Given the description of an element on the screen output the (x, y) to click on. 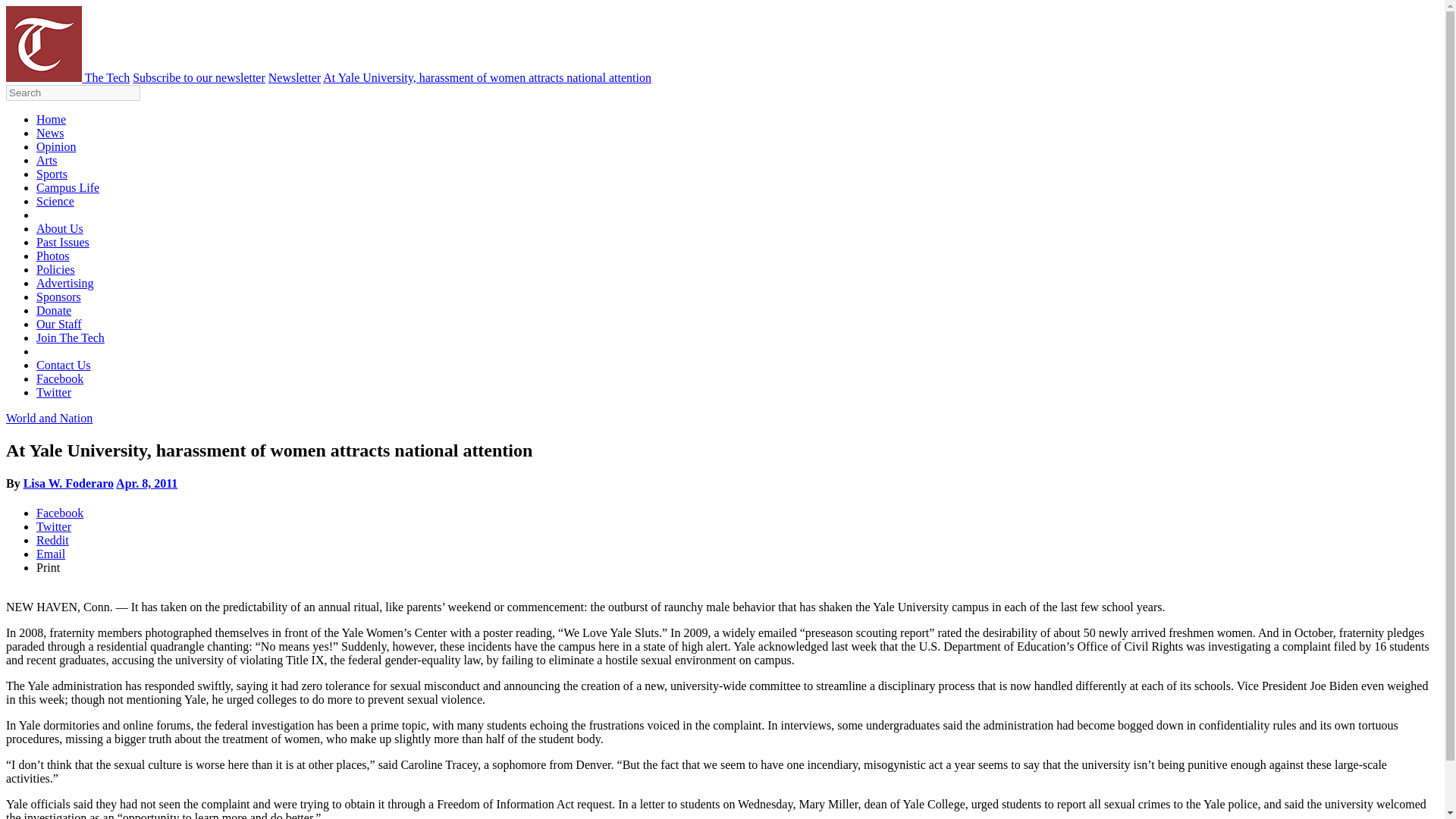
Arts (47, 160)
Contact Us (63, 364)
Subscribe to our newsletter (198, 77)
Science (55, 201)
Join The Tech (70, 337)
Policies (55, 269)
Facebook (59, 512)
Newsletter (293, 77)
Home (50, 119)
Past Issues (62, 241)
